Given the description of an element on the screen output the (x, y) to click on. 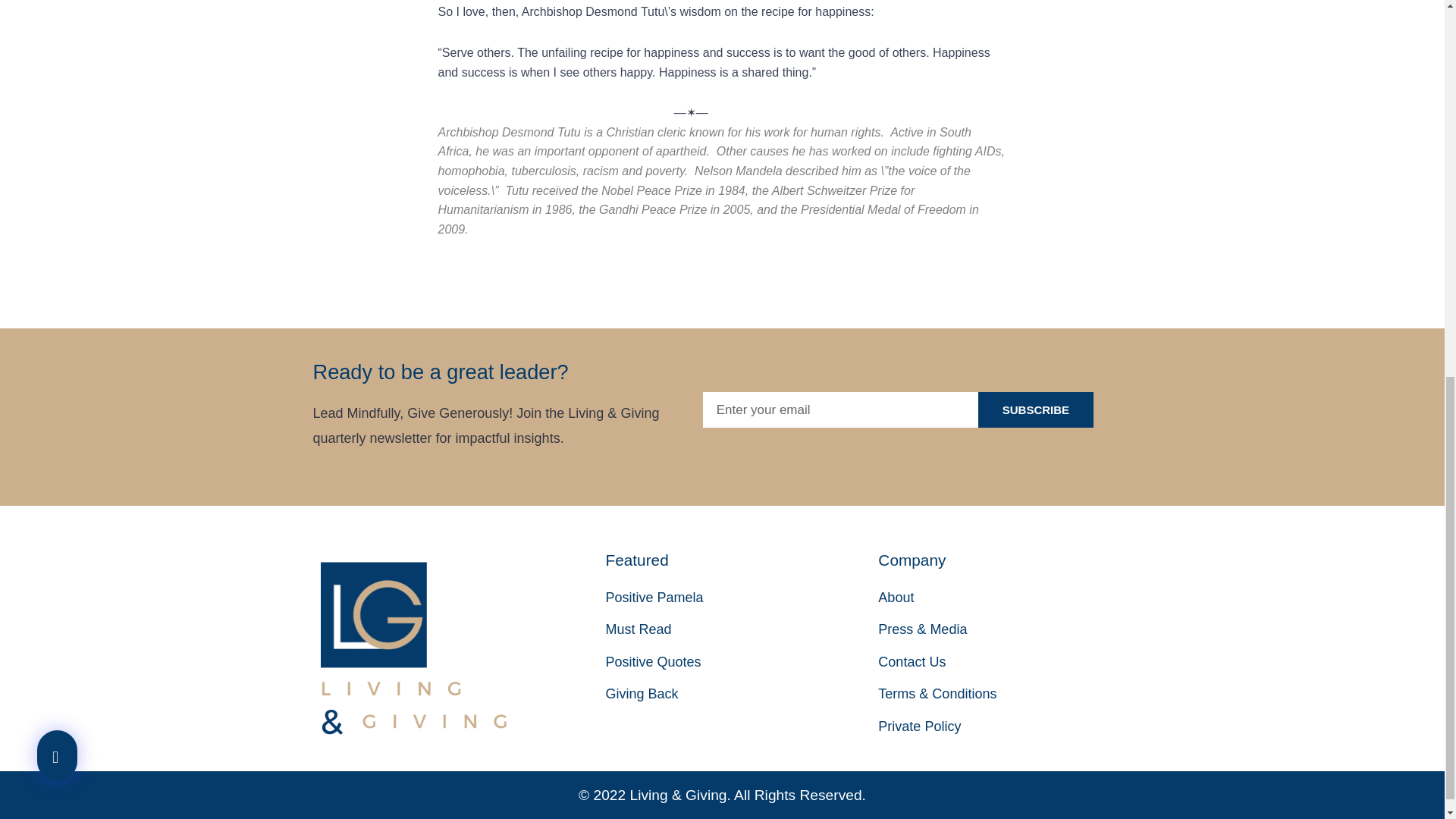
Positive Pamela (741, 597)
SUBSCRIBE (1035, 409)
About (1014, 597)
Contact Us (1014, 662)
Must Read (741, 629)
Giving Back (741, 693)
Positive Quotes (741, 662)
